Given the description of an element on the screen output the (x, y) to click on. 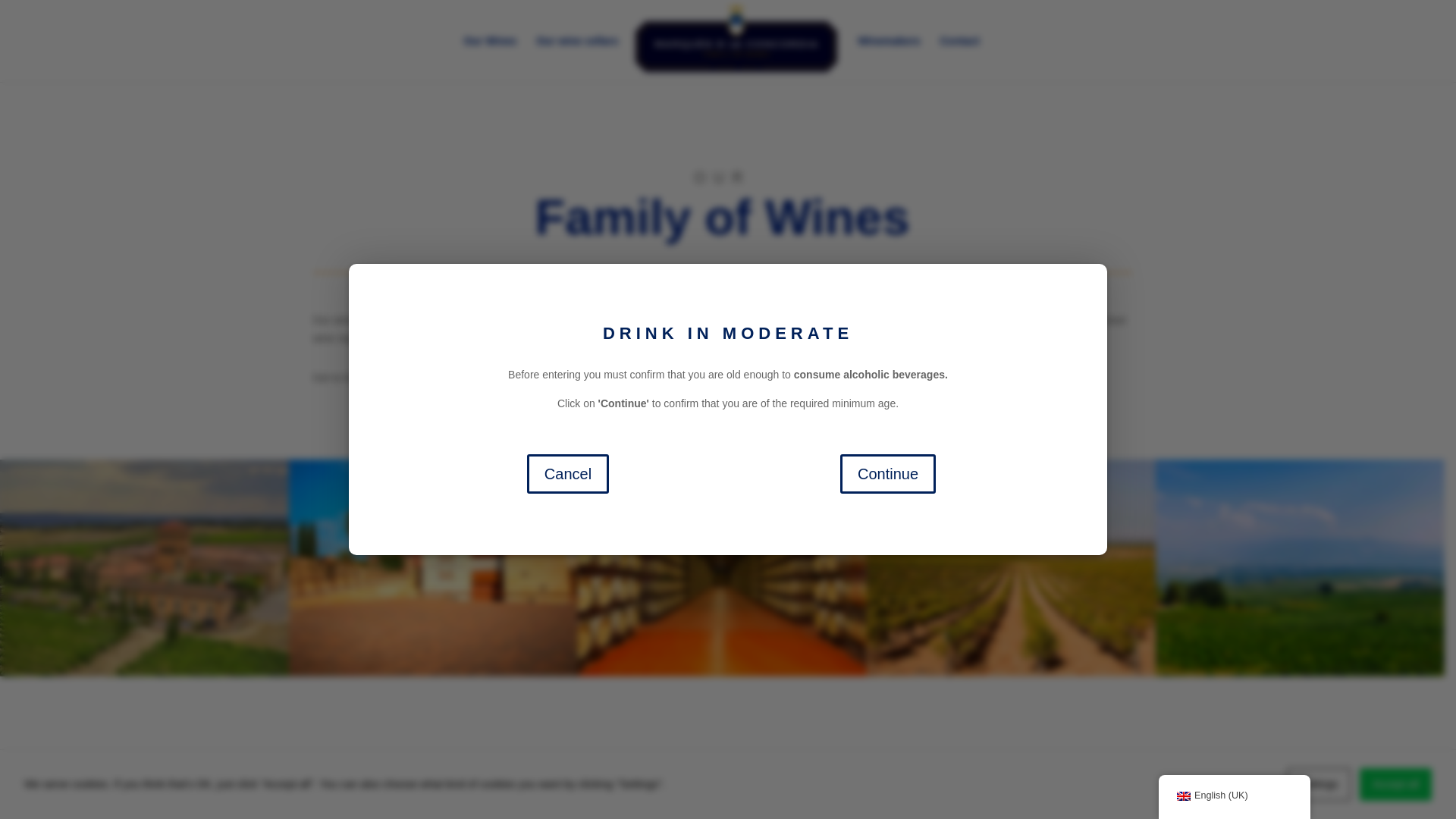
Our wine cellars (576, 40)
Winemakers (888, 58)
M.-Concordia-RS--SECOND-YEAR (495, 783)
Our Wines (489, 58)
